Given the description of an element on the screen output the (x, y) to click on. 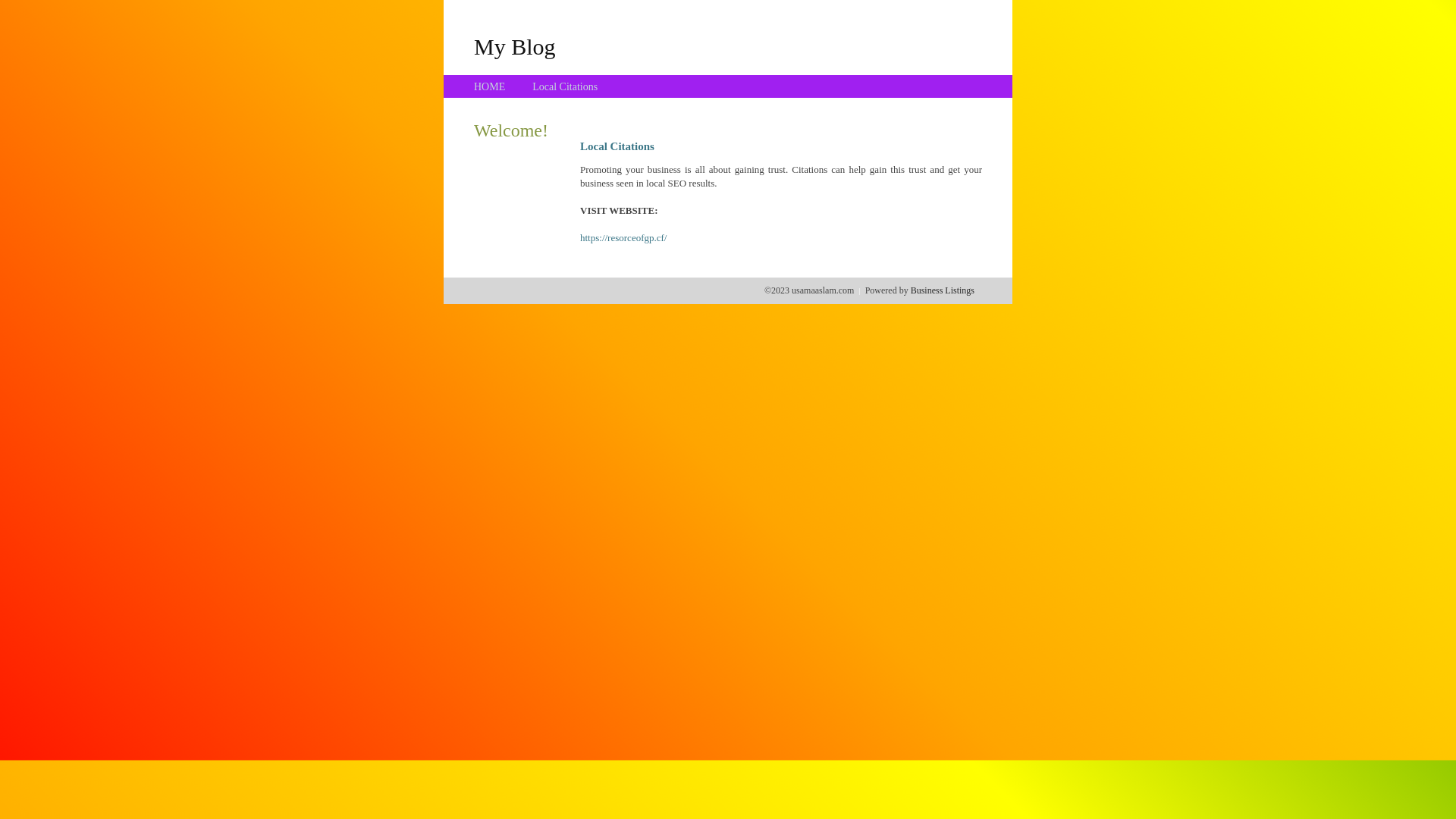
HOME Element type: text (489, 86)
Local Citations Element type: text (564, 86)
My Blog Element type: text (514, 46)
Business Listings Element type: text (942, 290)
https://resorceofgp.cf/ Element type: text (623, 237)
